Given the description of an element on the screen output the (x, y) to click on. 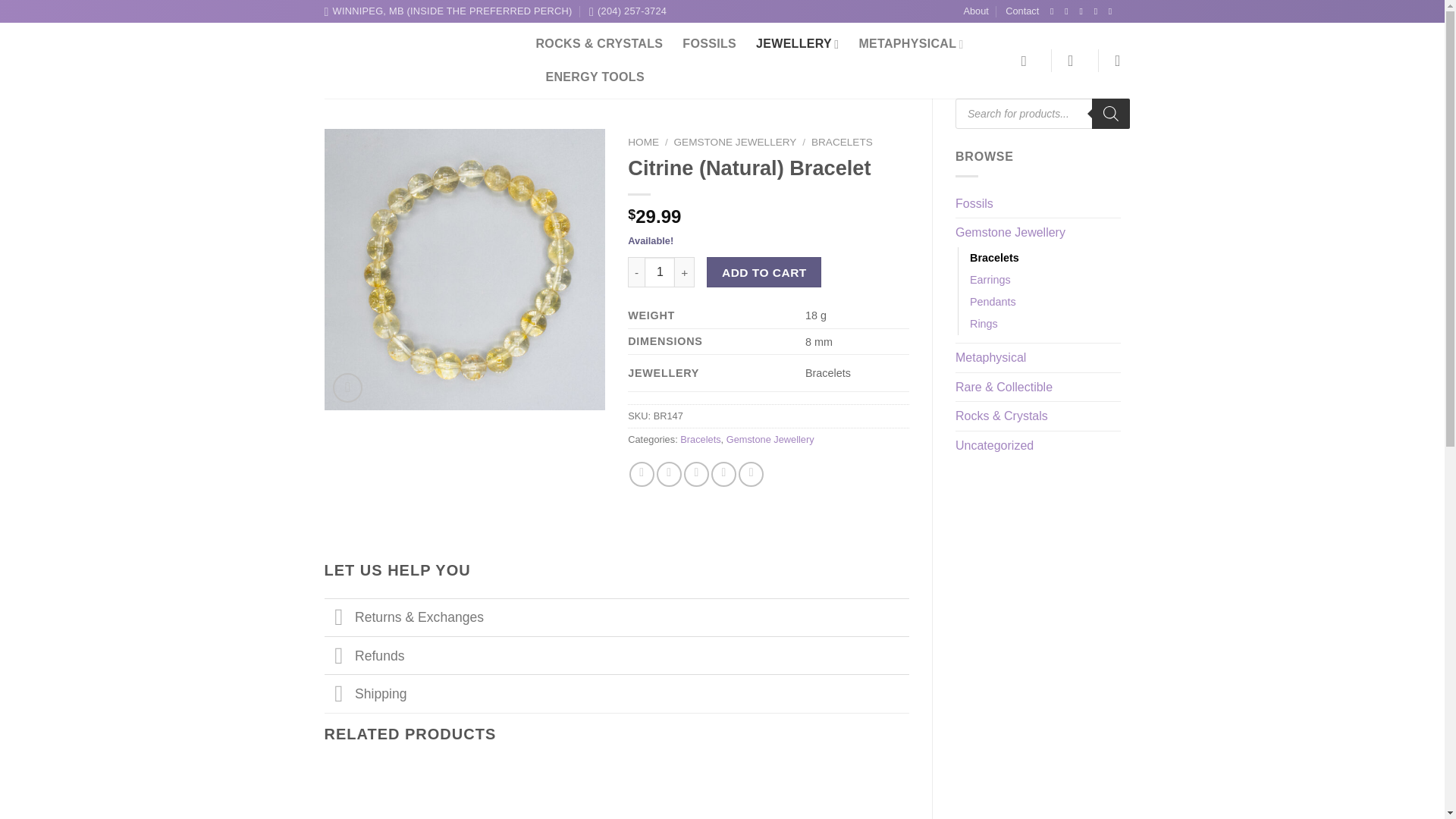
Earrings (989, 280)
JEWELLERY (796, 43)
Zoom (347, 387)
About (975, 11)
METAPHYSICAL (910, 43)
Share on Twitter (668, 473)
Canada's Rock Shop (418, 60)
1 (660, 272)
Pendants (992, 301)
Fossils (1038, 203)
Bracelets (994, 258)
Contact (1022, 11)
FOSSILS (709, 43)
Gemstone Jewellery (1038, 232)
ENERGY TOOLS (595, 77)
